Given the description of an element on the screen output the (x, y) to click on. 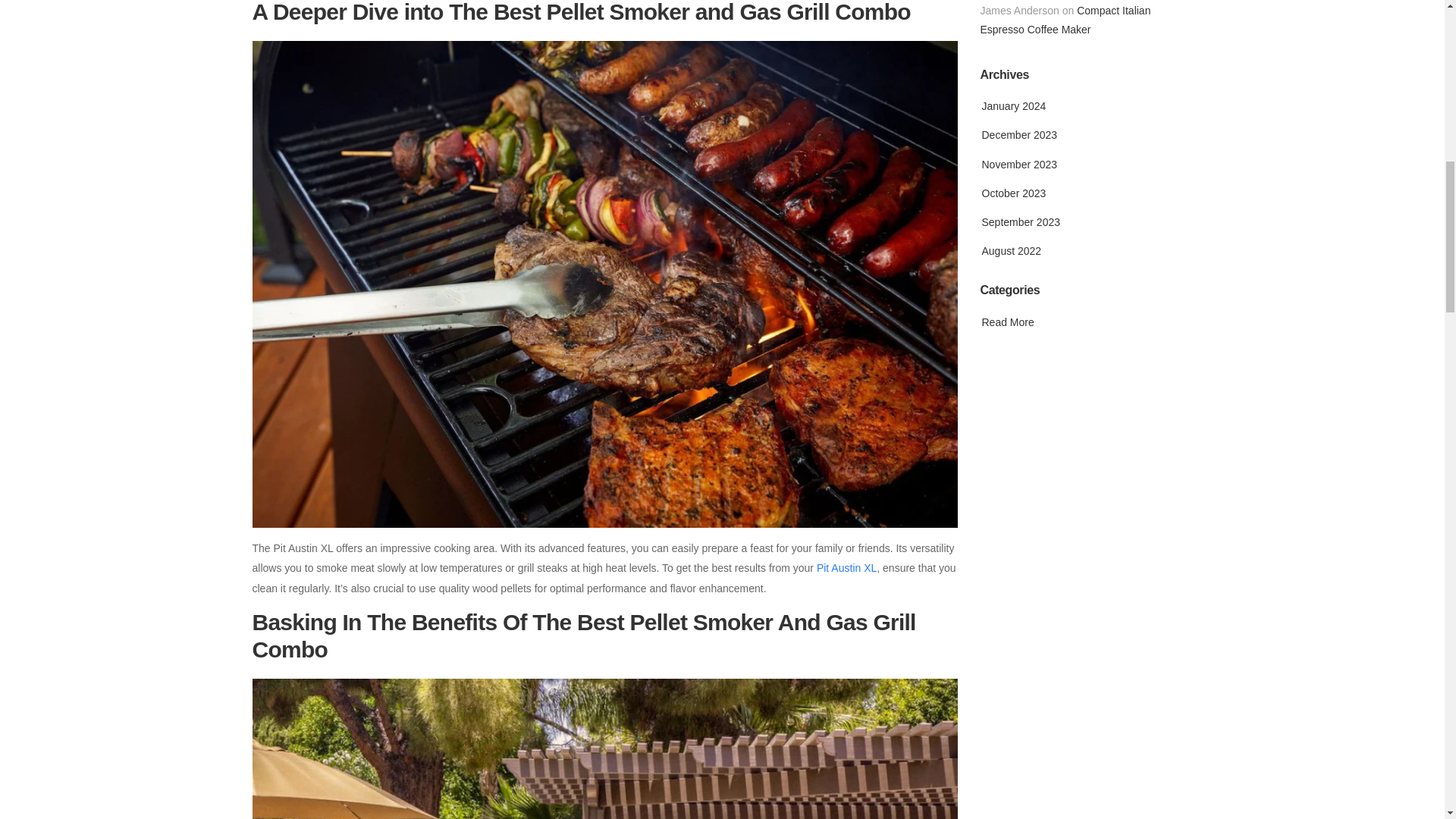
Read More (1006, 321)
September 2023 (1019, 222)
October 2023 (1012, 193)
August 2022 (1010, 250)
January 2024 (1012, 105)
December 2023 (1018, 134)
Compact Italian Espresso Coffee Maker (1064, 20)
November 2023 (1018, 164)
